Given the description of an element on the screen output the (x, y) to click on. 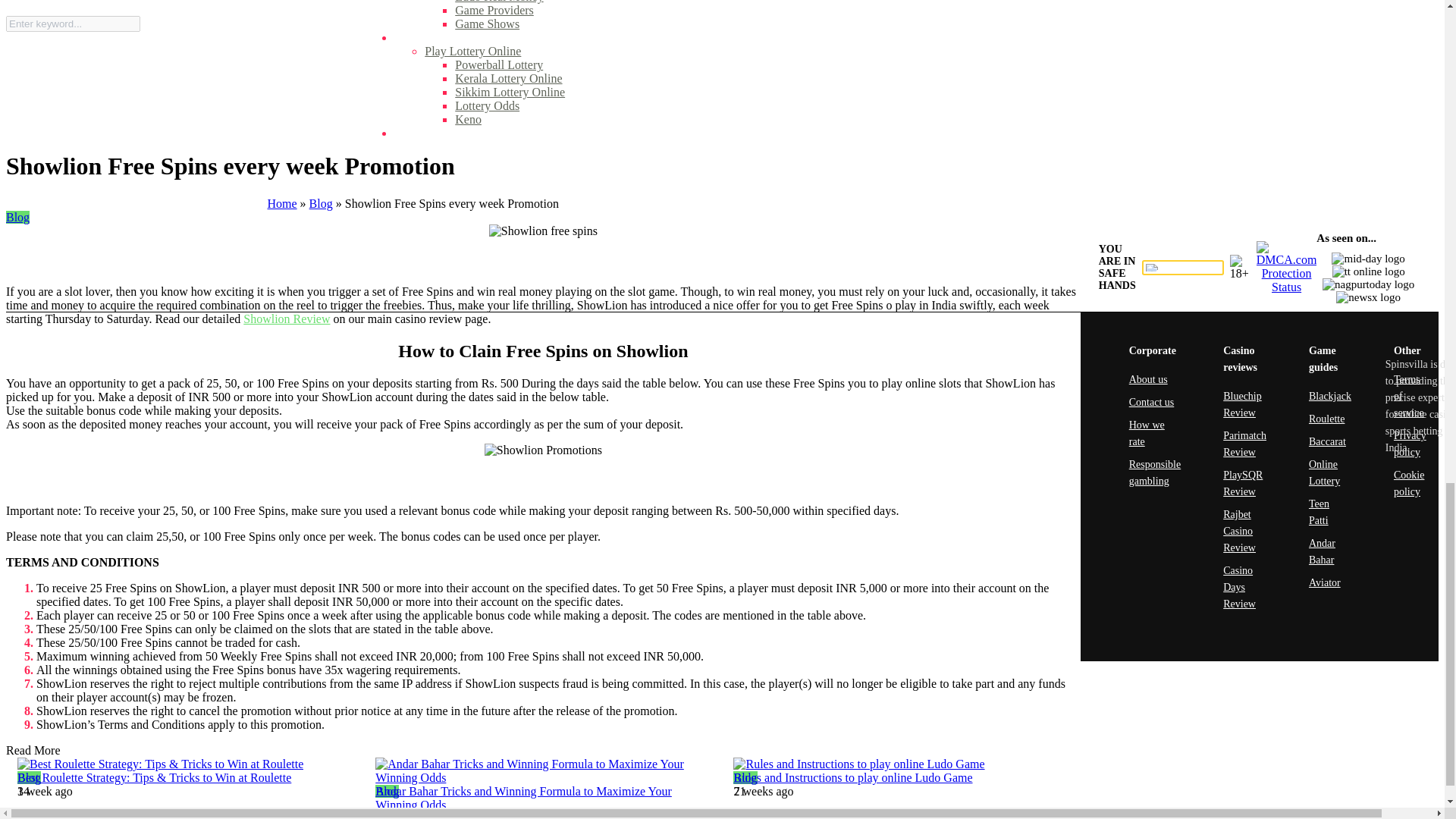
Rules and Instructions to play online Ludo Game (900, 764)
Rules and Instructions to play online Ludo Game (852, 777)
Spinsvilla (81, 667)
DMCA.com Protection Status (1286, 286)
